Given the description of an element on the screen output the (x, y) to click on. 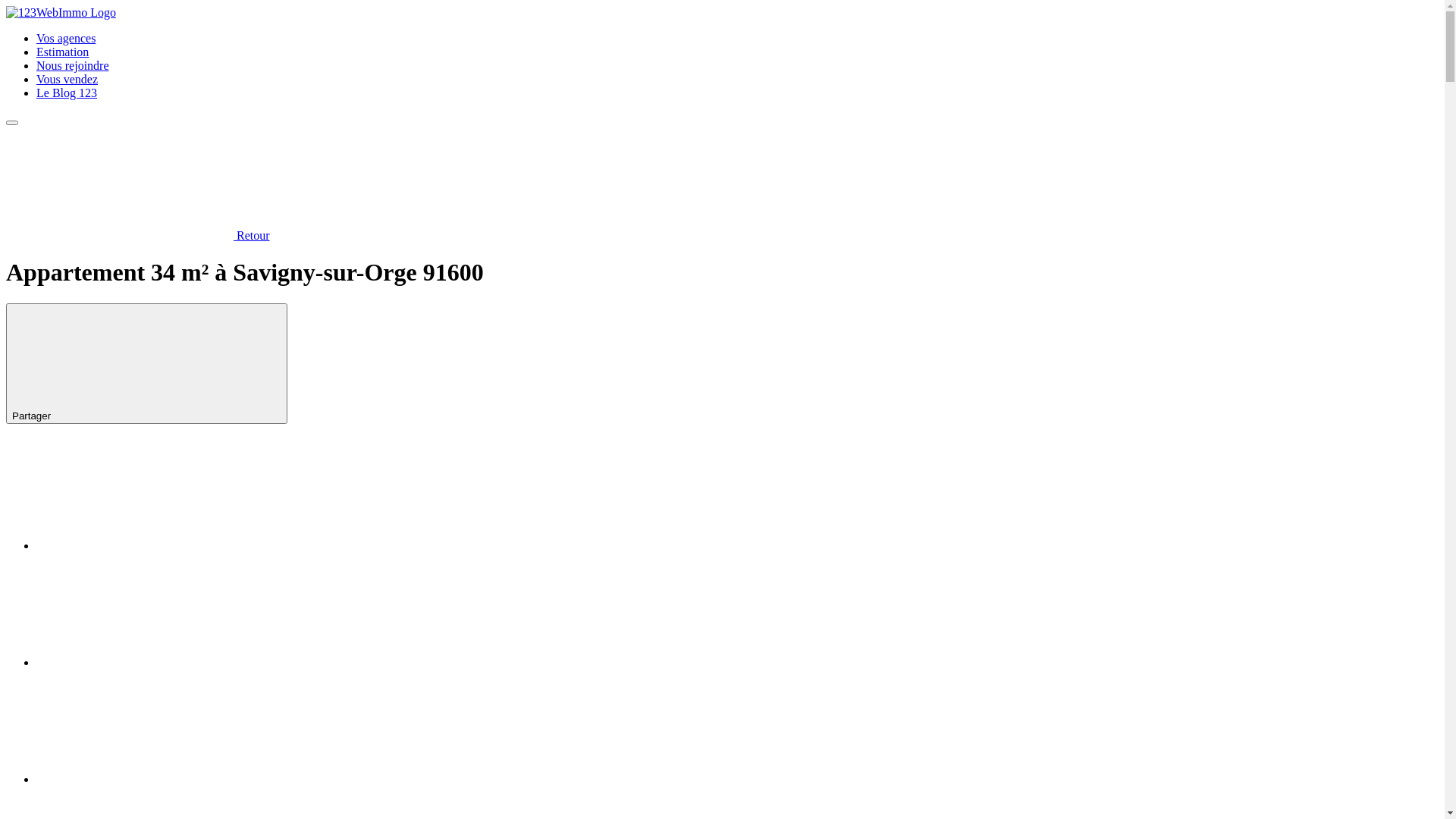
Nous rejoindre Element type: text (72, 65)
Vos agences Element type: text (65, 37)
Partager avec Pinterest Element type: text (149, 778)
Partager avec LinkedIn Element type: text (149, 545)
Le Blog 123 Element type: text (66, 92)
Retour Element type: text (137, 235)
Estimation Element type: text (62, 51)
Partager Element type: text (146, 363)
Vous vendez Element type: text (66, 78)
Partager avec WhatsApp Element type: text (149, 661)
